Given the description of an element on the screen output the (x, y) to click on. 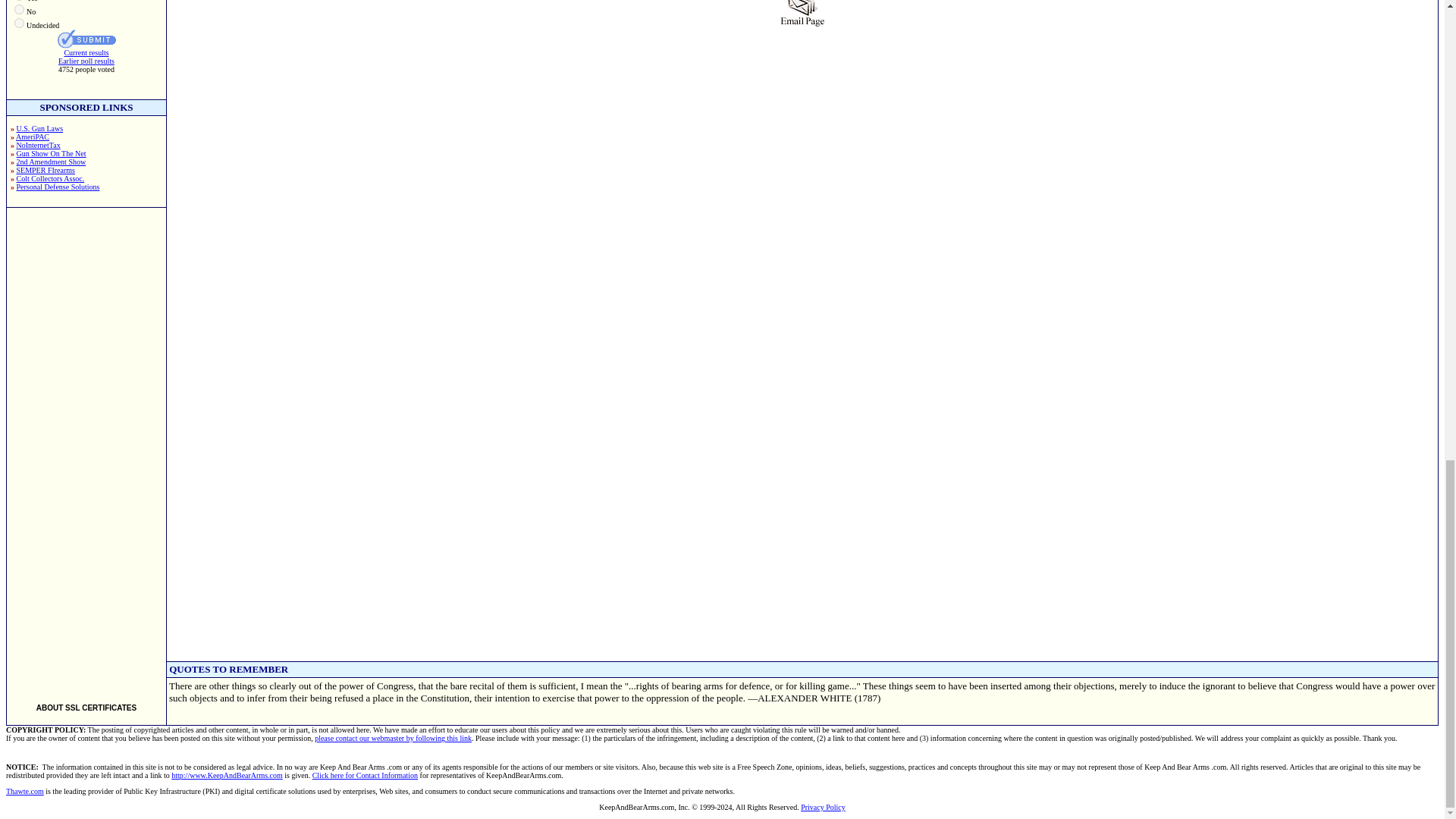
3 (19, 22)
2nd Amendment Show (50, 162)
Vote Now! (86, 38)
NoInternetTax (38, 144)
Earlier poll results (86, 60)
AmeriPAC (32, 136)
SEMPER FIrearms (45, 170)
2 (19, 9)
Current results (85, 52)
Gun Show On The Net (50, 153)
Colt Collectors Assoc. (50, 178)
U.S. Gun Laws (40, 128)
